Given the description of an element on the screen output the (x, y) to click on. 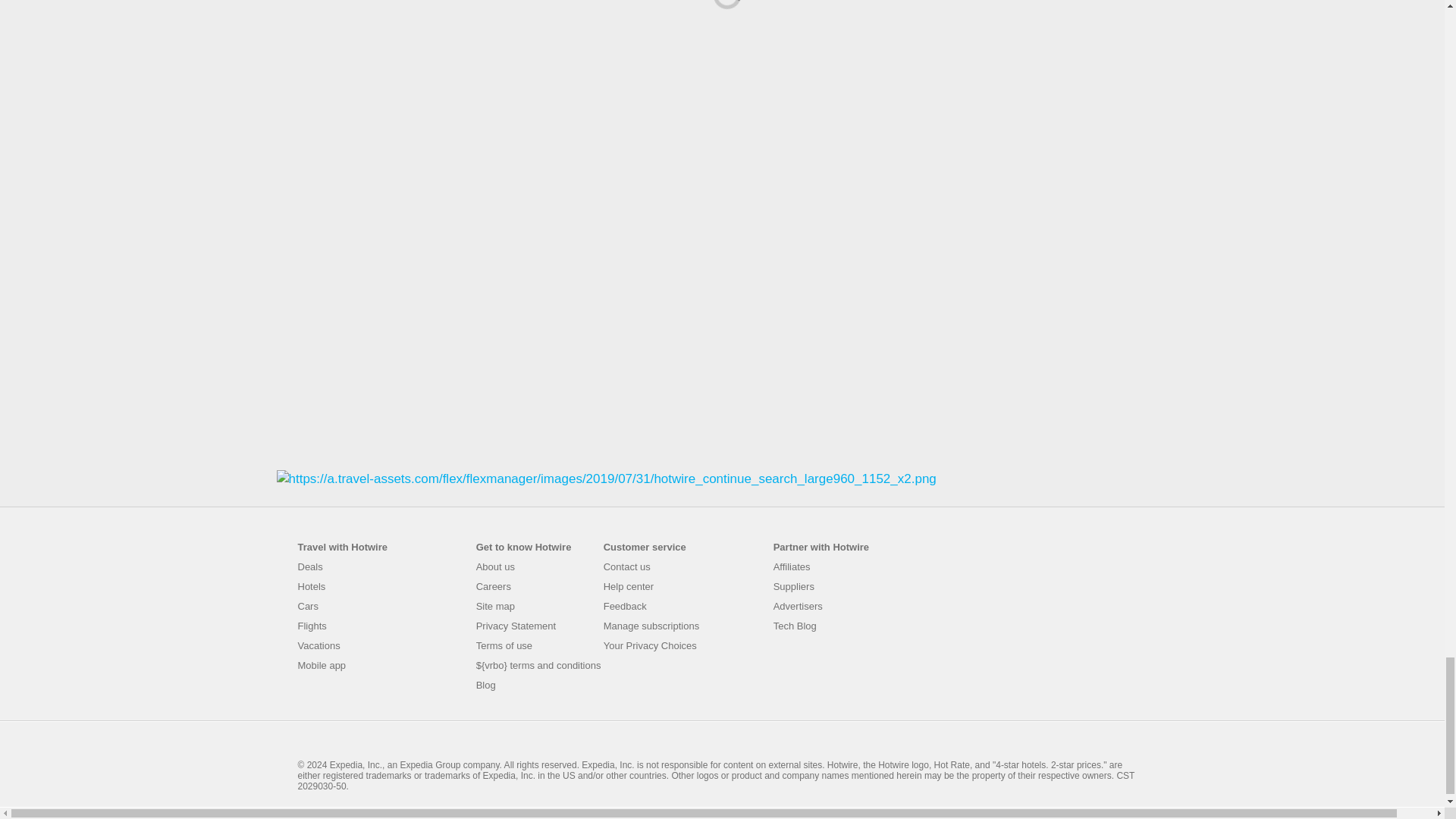
Loading... (721, 2)
